Given the description of an element on the screen output the (x, y) to click on. 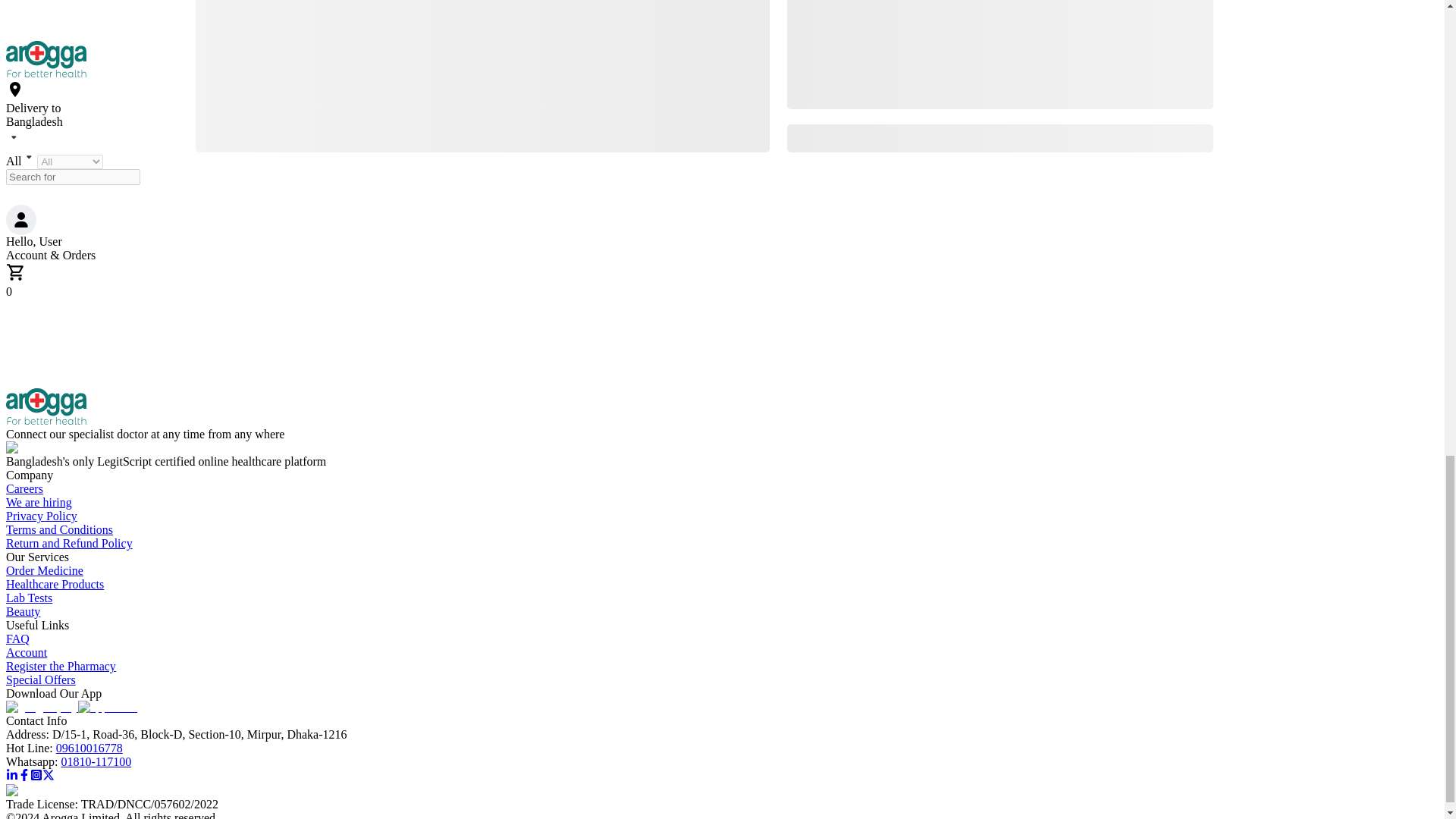
09610016778 (89, 748)
01810-117100 (96, 761)
